Given the description of an element on the screen output the (x, y) to click on. 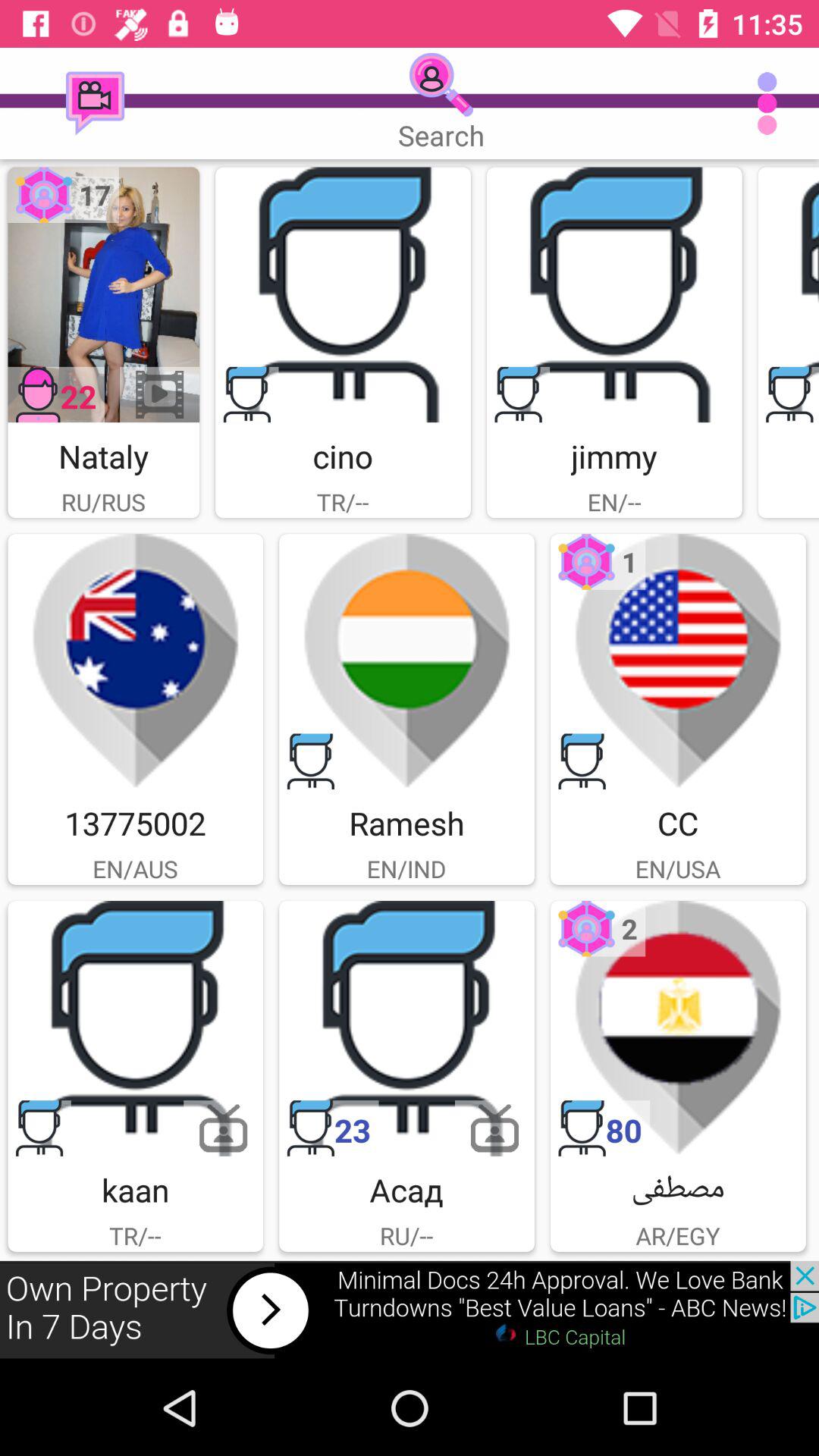
theme option (135, 661)
